Given the description of an element on the screen output the (x, y) to click on. 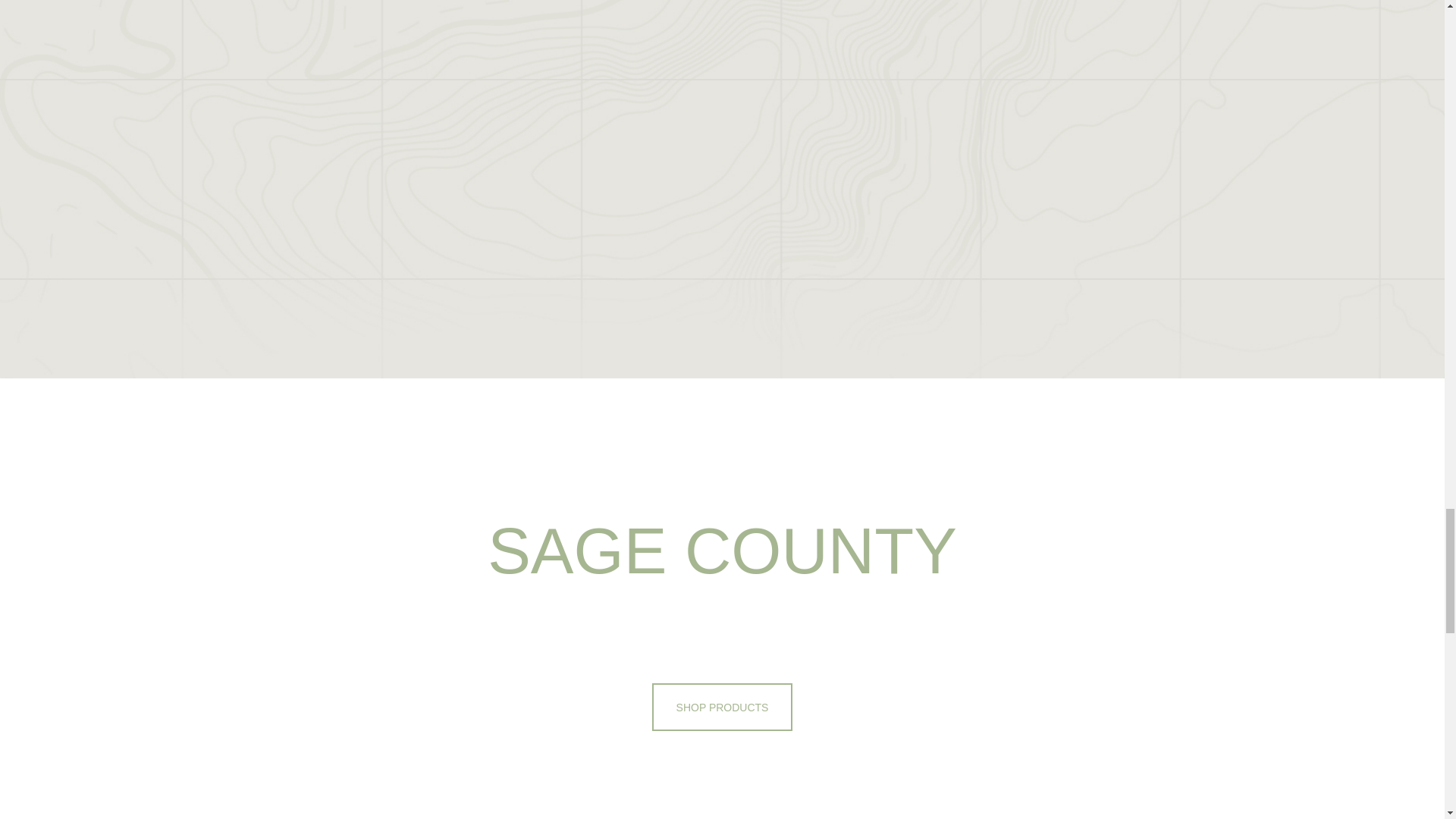
SHOP PRODUCTS (722, 707)
